Given the description of an element on the screen output the (x, y) to click on. 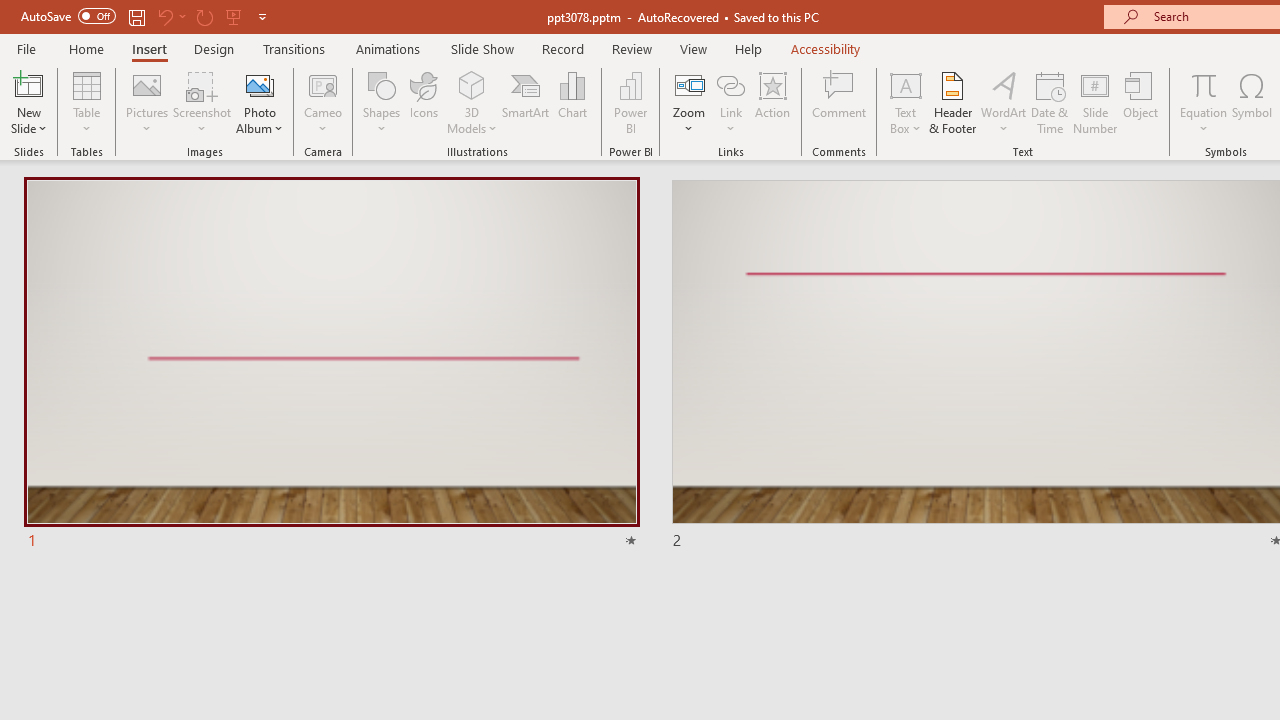
Photo Album... (259, 102)
3D Models (472, 84)
Link (731, 102)
Power BI (630, 102)
